Given the description of an element on the screen output the (x, y) to click on. 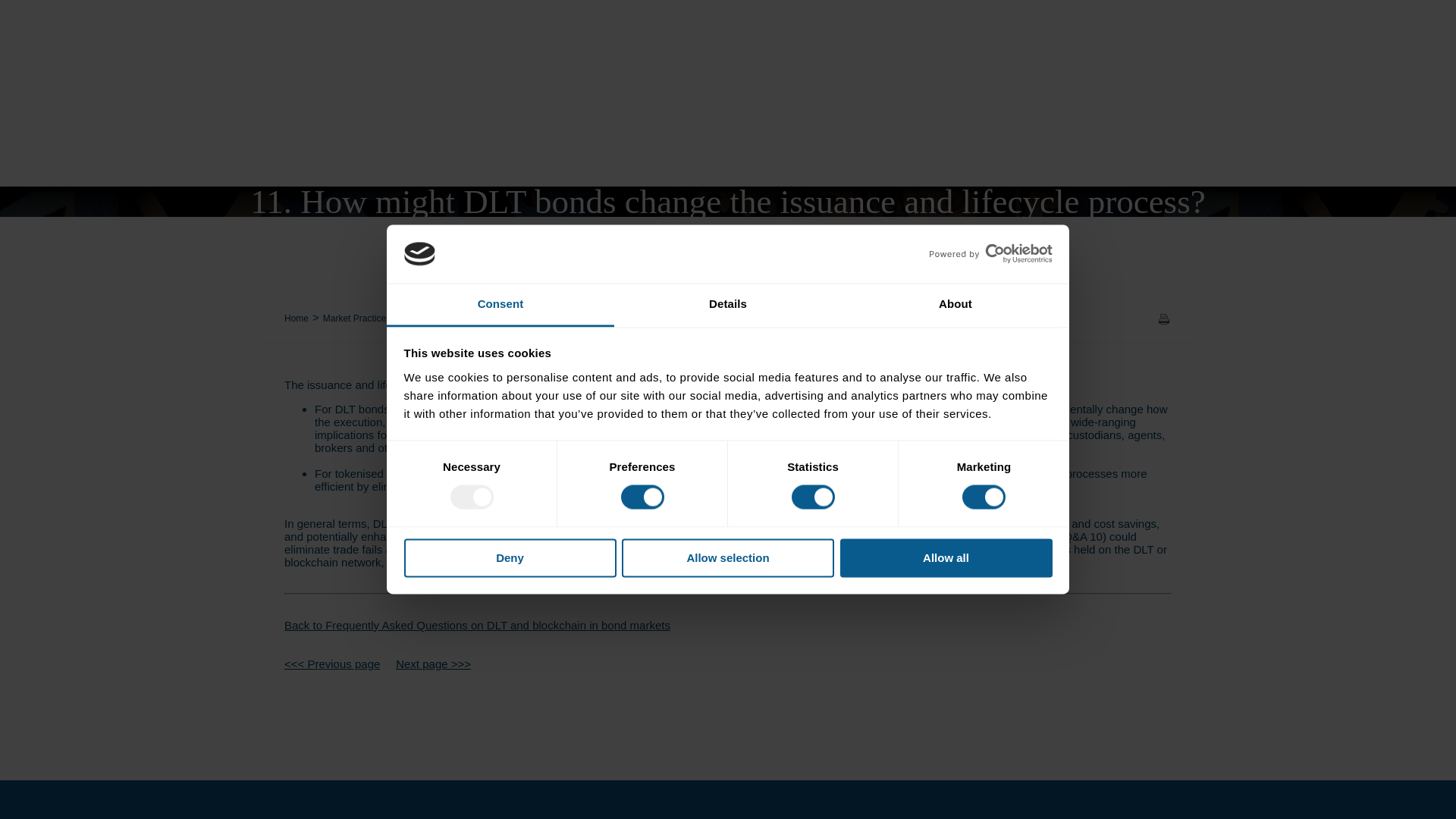
Details (727, 304)
About (954, 304)
Consent (500, 304)
